Given the description of an element on the screen output the (x, y) to click on. 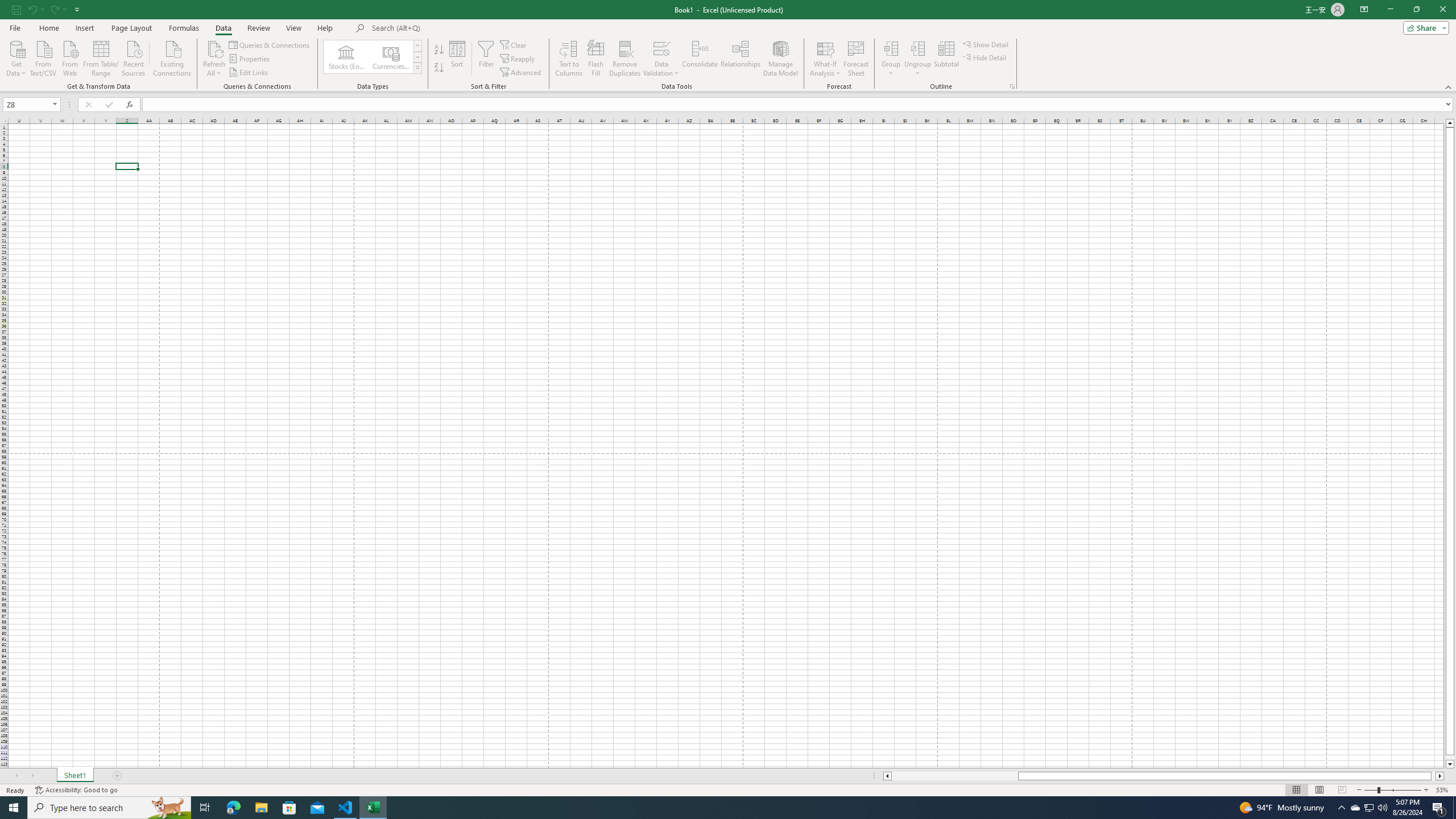
Data Validation... (661, 58)
Scroll Left (16, 775)
Text to Columns... (568, 58)
Group... (890, 48)
Recent Sources (133, 57)
Show Detail (985, 44)
Add Sheet (117, 775)
Flash Fill (595, 58)
Subtotal (946, 58)
